Given the description of an element on the screen output the (x, y) to click on. 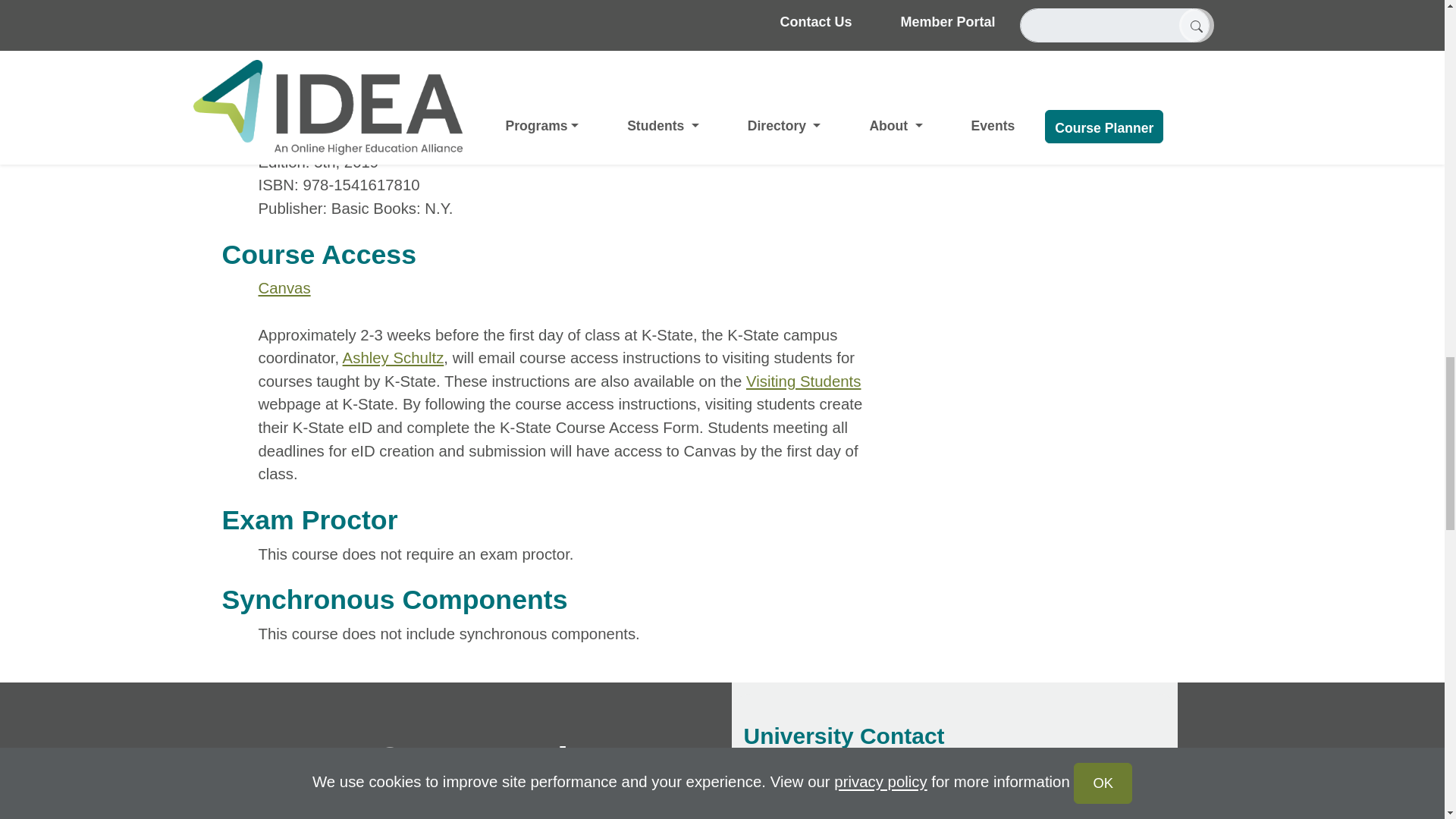
Students visiting K-State (803, 381)
Ashley Schultz's directory page (393, 357)
Canvas login (283, 288)
